Given the description of an element on the screen output the (x, y) to click on. 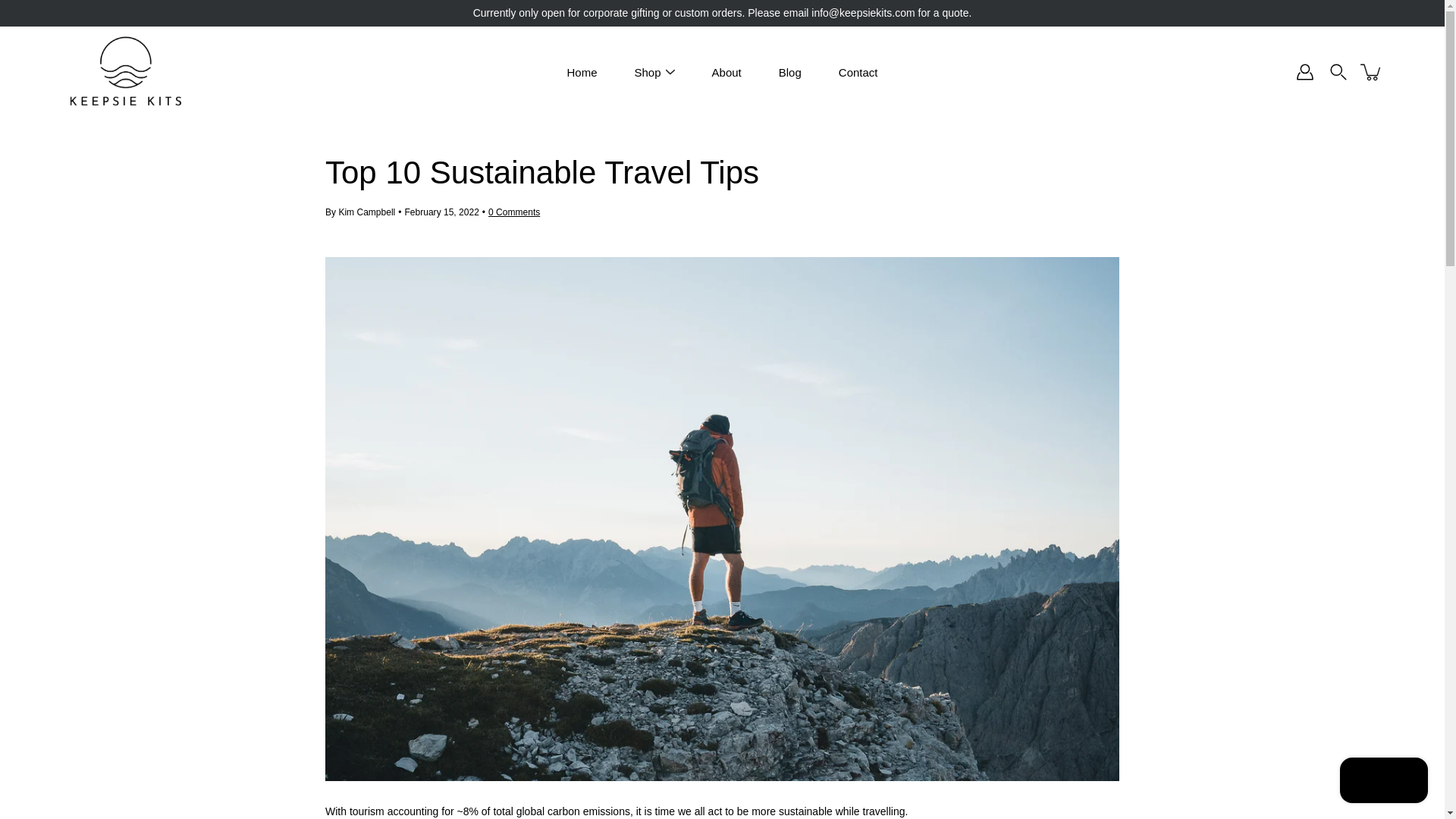
Home (581, 71)
Contact (857, 71)
Shop (647, 71)
About (726, 71)
Blog (790, 71)
Shopify online store chat (1383, 781)
0 Comments (513, 212)
